Given the description of an element on the screen output the (x, y) to click on. 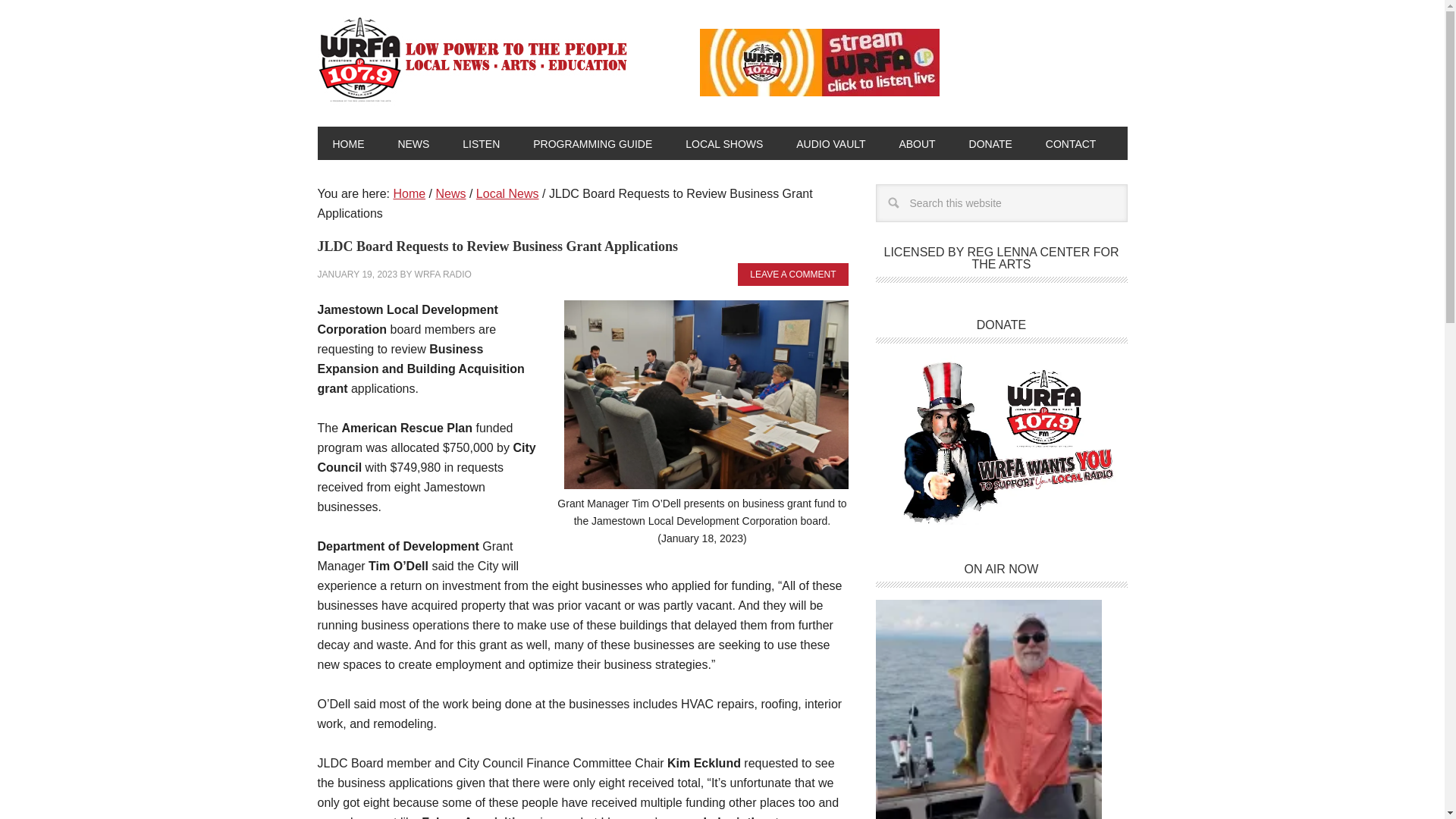
AUDIO VAULT (830, 142)
LOCAL SHOWS (723, 142)
WRFA-LP 107.9 FM (473, 58)
LISTEN (480, 142)
PROGRAMMING GUIDE (592, 142)
NEWS (412, 142)
DONATE (990, 142)
ABOUT (916, 142)
HOME (347, 142)
